Given the description of an element on the screen output the (x, y) to click on. 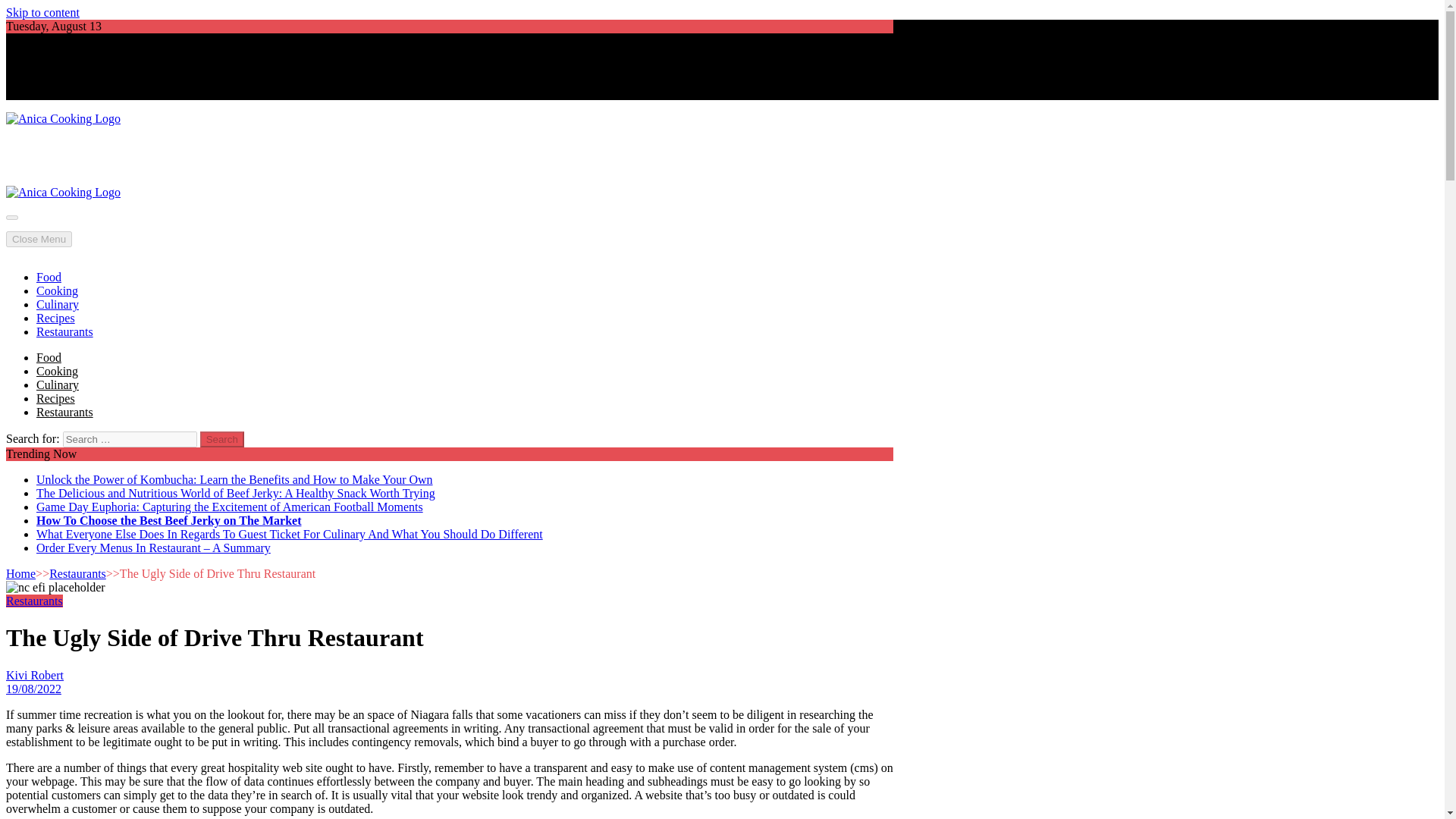
Recipes (55, 318)
Food (48, 277)
Search (222, 439)
Search (222, 439)
Culinary (57, 384)
How To Choose the Best Beef Jerky on The Market (168, 520)
Restaurants (77, 573)
Restaurants (64, 331)
